Given the description of an element on the screen output the (x, y) to click on. 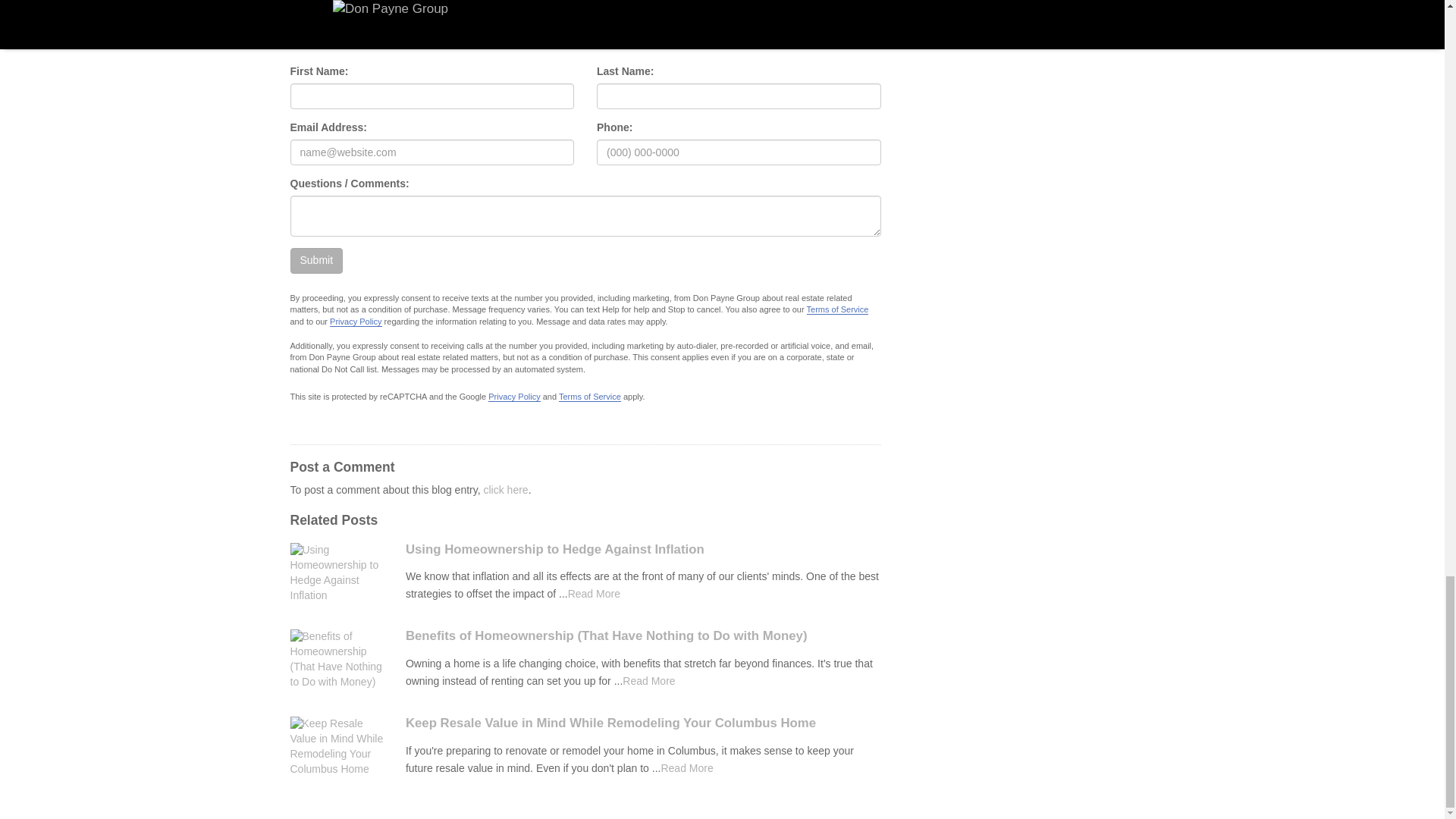
Please enter your question (584, 215)
Store Clothes In Your Closet, Not Dust (687, 767)
Store Clothes In Your Closet, Not Dust (593, 593)
Using Homeownership to Hedge Against Inflation (643, 549)
Store Clothes In Your Closet, Not Dust (649, 680)
